Given the description of an element on the screen output the (x, y) to click on. 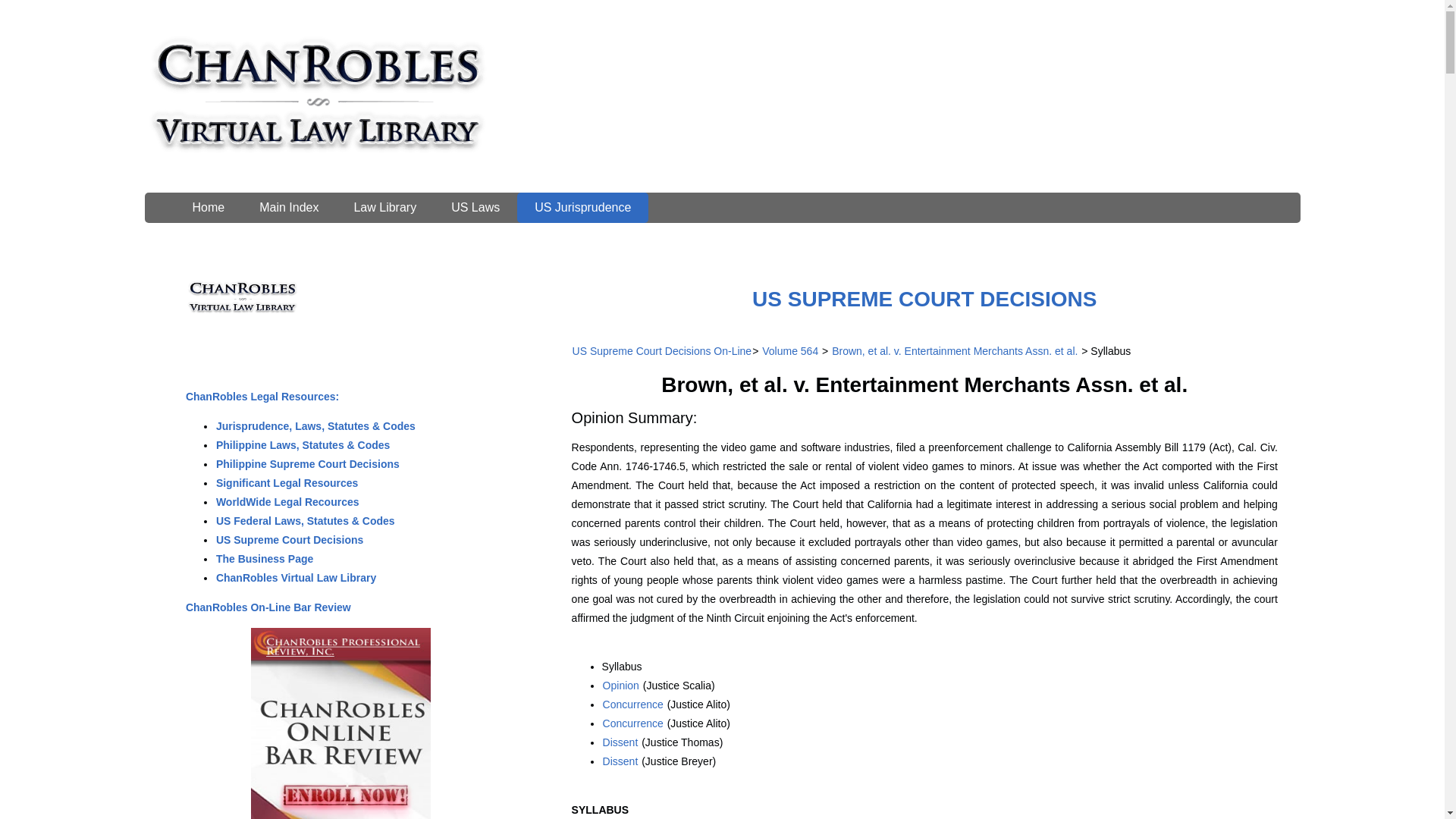
Philippine Supreme Court Decisions (307, 463)
ChanRobles Virtual Law Library (296, 577)
ChanRobles On-Line Bar Review (268, 607)
US Supreme Court Decisions (290, 539)
Brown, et al. v. Entertainment Merchants Assn. et al. (954, 350)
Law Library (384, 207)
Dissent (620, 742)
US Jurisprudence (581, 207)
Dissent (620, 761)
Concurrence (632, 704)
